Given the description of an element on the screen output the (x, y) to click on. 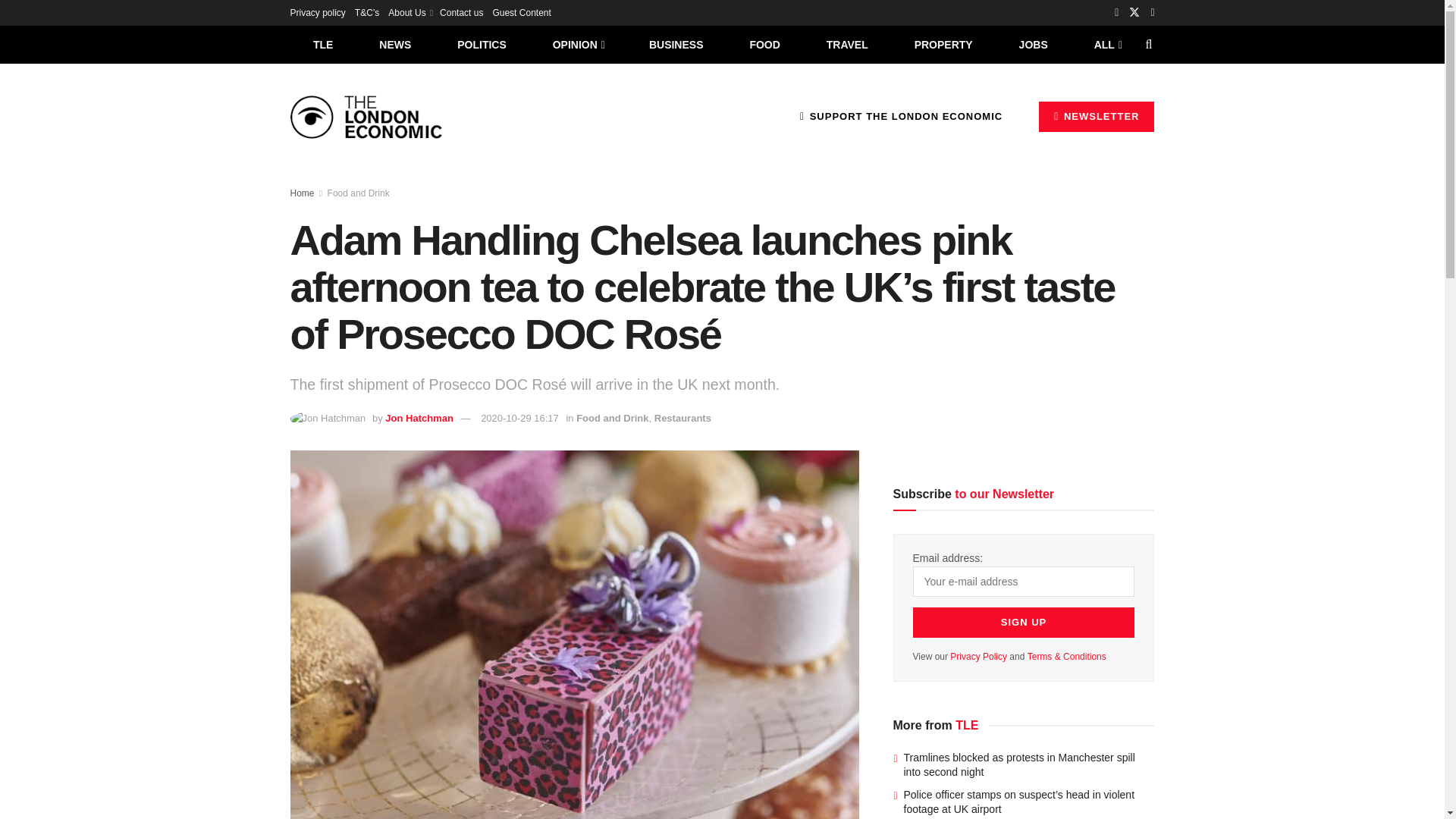
NEWS (394, 44)
TLE (322, 44)
Guest Content (521, 12)
SUPPORT THE LONDON ECONOMIC (900, 116)
BUSINESS (676, 44)
Home (301, 193)
Contact us (461, 12)
POLITICS (481, 44)
JOBS (1032, 44)
FOOD (764, 44)
ALL (1106, 44)
PROPERTY (943, 44)
NEWSLETTER (1096, 116)
About Us (409, 12)
Sign up (1023, 622)
